Given the description of an element on the screen output the (x, y) to click on. 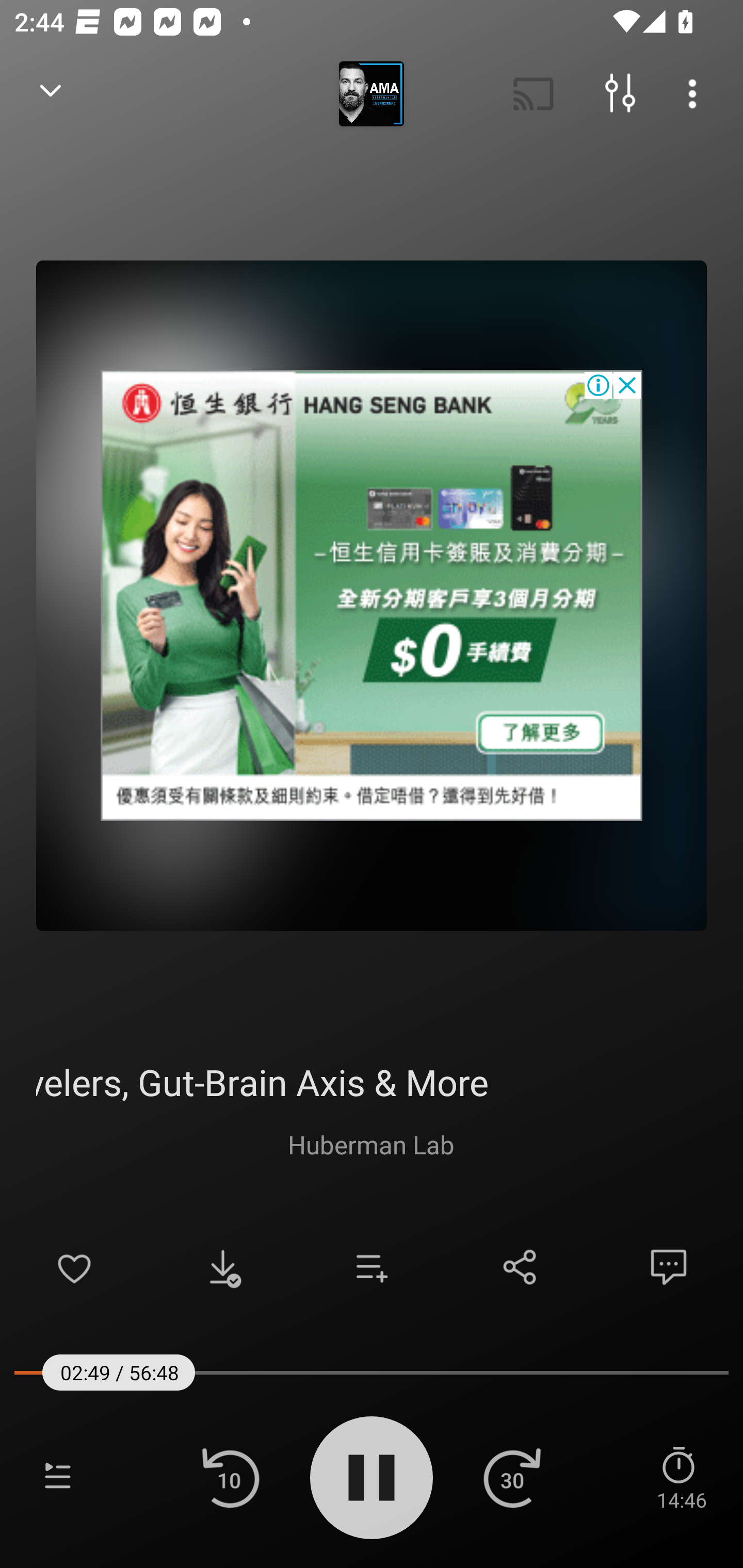
Cast. Disconnected (533, 93)
 Back (50, 94)
Advertisement (371, 595)
Huberman Lab (370, 1144)
Comments (668, 1266)
Add to Favorites (73, 1266)
Add to playlist (371, 1266)
Share (519, 1266)
Sleep Timer  14:46 (681, 1477)
 Playlist (57, 1477)
